Given the description of an element on the screen output the (x, y) to click on. 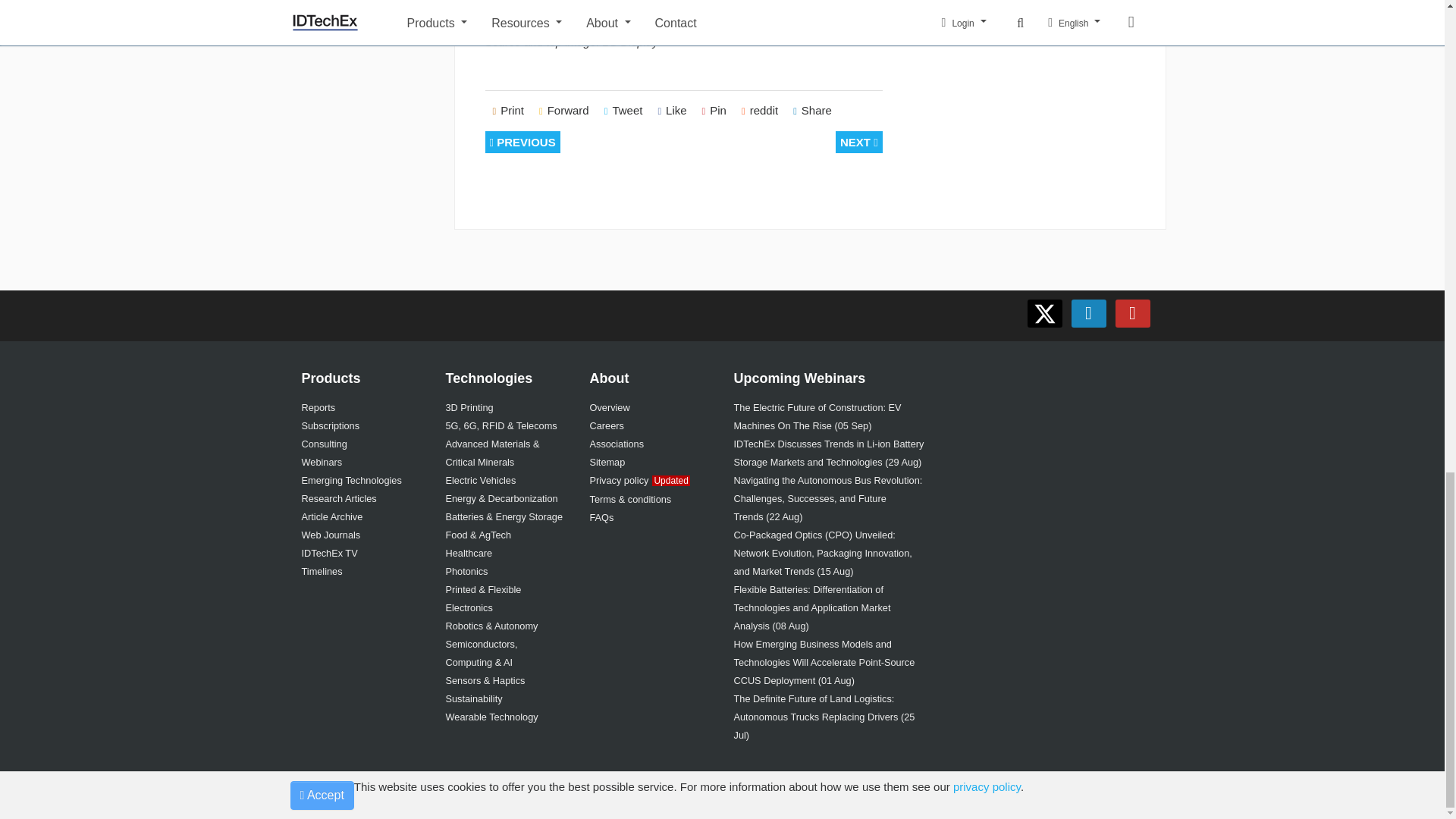
Share on Pinterest (713, 110)
Webinars (321, 461)
3D Printing (469, 407)
IDTechEx TV (329, 552)
Share on LinkedIn (813, 110)
Print Article (508, 110)
Share on Reddit (759, 110)
Subscriptions (330, 425)
Reports (318, 407)
Article Archive (331, 516)
Share on Facebook (671, 110)
Web Journals (331, 534)
Emerging Technologies (351, 480)
Consulting (324, 443)
Share on Twitter (623, 110)
